Given the description of an element on the screen output the (x, y) to click on. 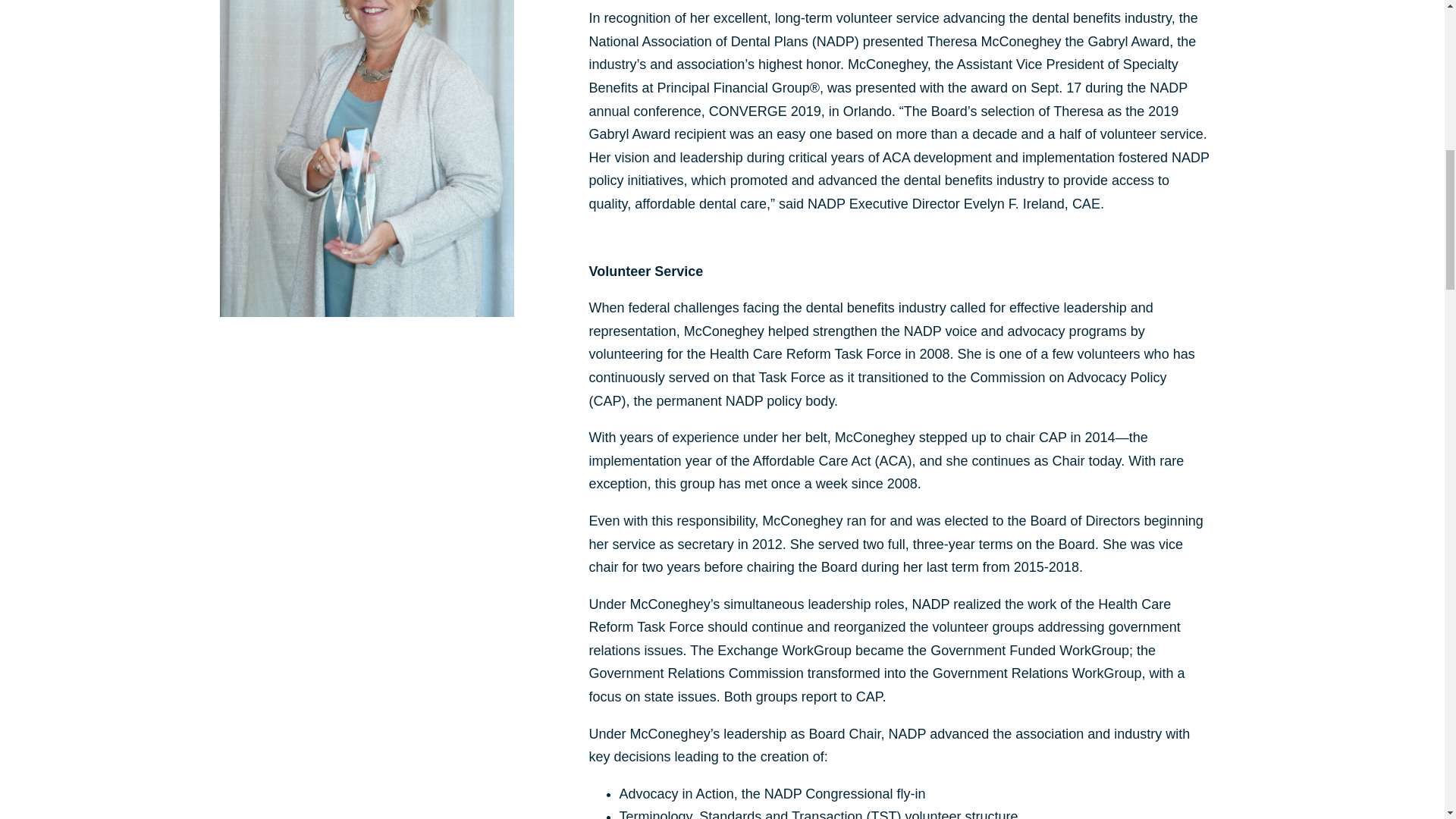
Theresa Mc 2019 Gabryl (366, 158)
